Given the description of an element on the screen output the (x, y) to click on. 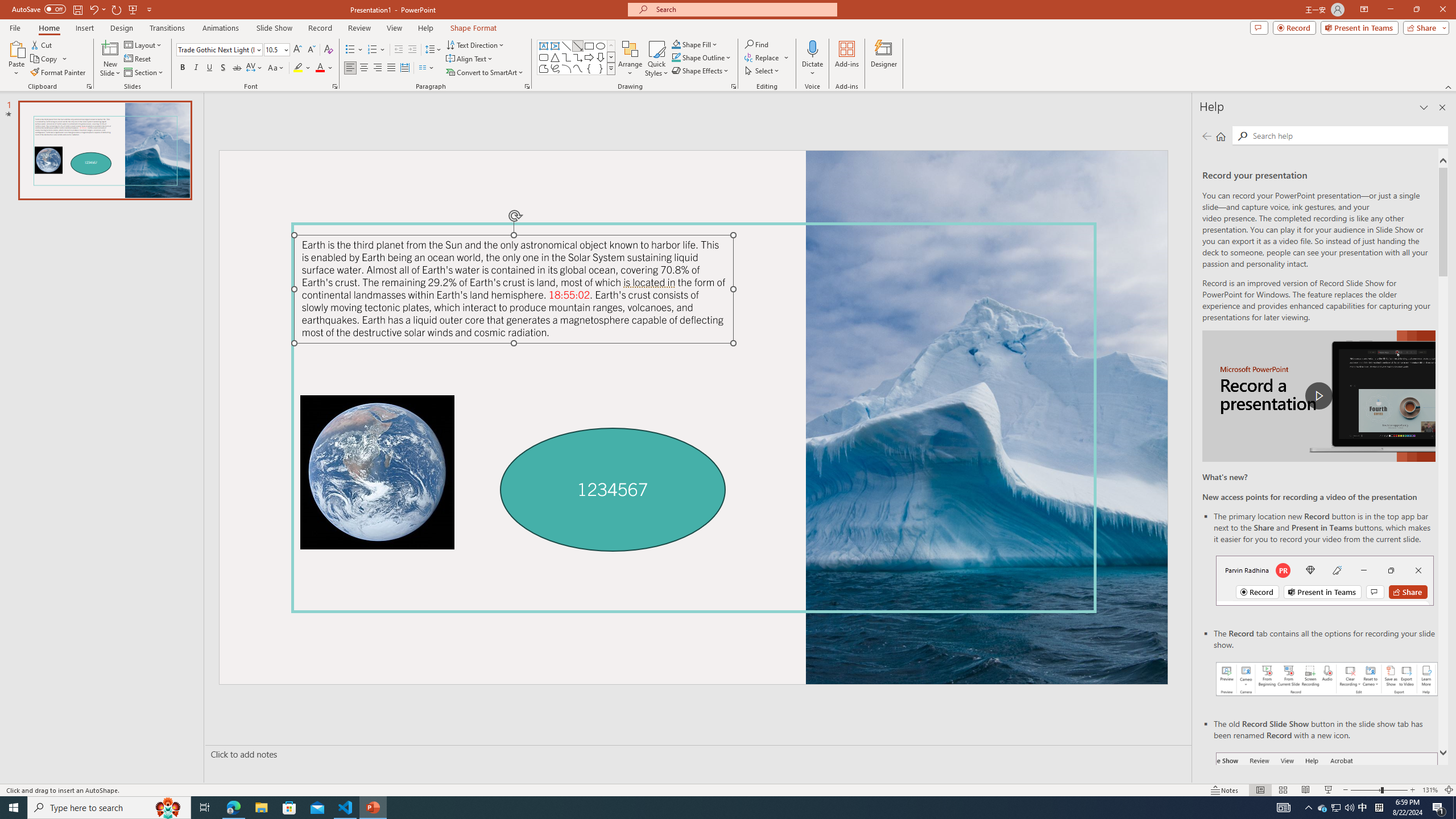
play Record a Presentation (1318, 395)
